Given the description of an element on the screen output the (x, y) to click on. 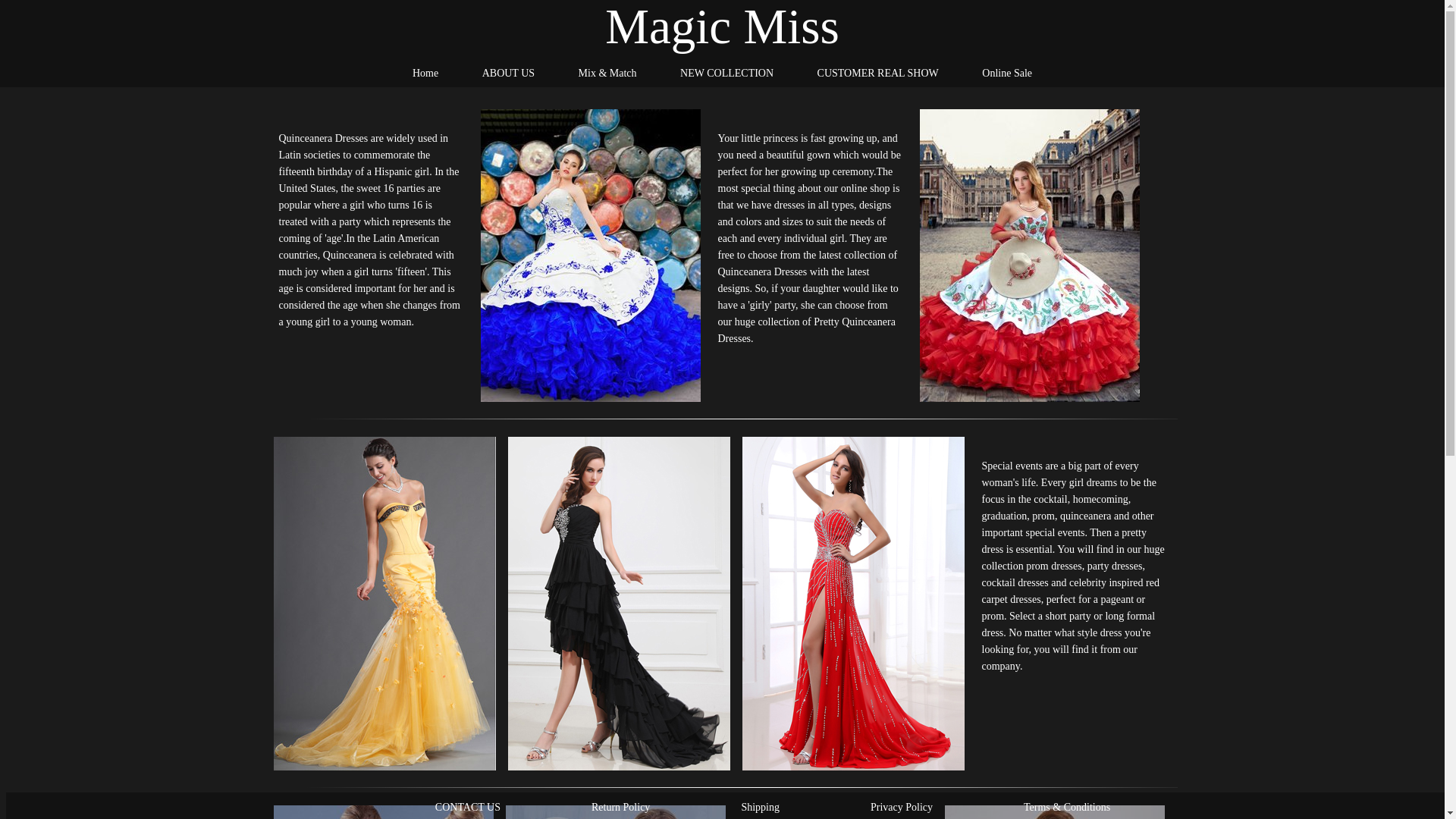
Privacy Policy Element type: text (901, 806)
CONTACT US Element type: text (467, 806)
Online Sale Element type: text (1006, 72)
Mix & Match Element type: text (607, 72)
Return Policy Element type: text (620, 806)
ABOUT US Element type: text (508, 72)
NEW COLLECTION Element type: text (726, 72)
CUSTOMER REAL SHOW Element type: text (878, 72)
Home Element type: text (425, 72)
Terms & Conditions Element type: text (1066, 806)
Shipping Element type: text (759, 806)
